Given the description of an element on the screen output the (x, y) to click on. 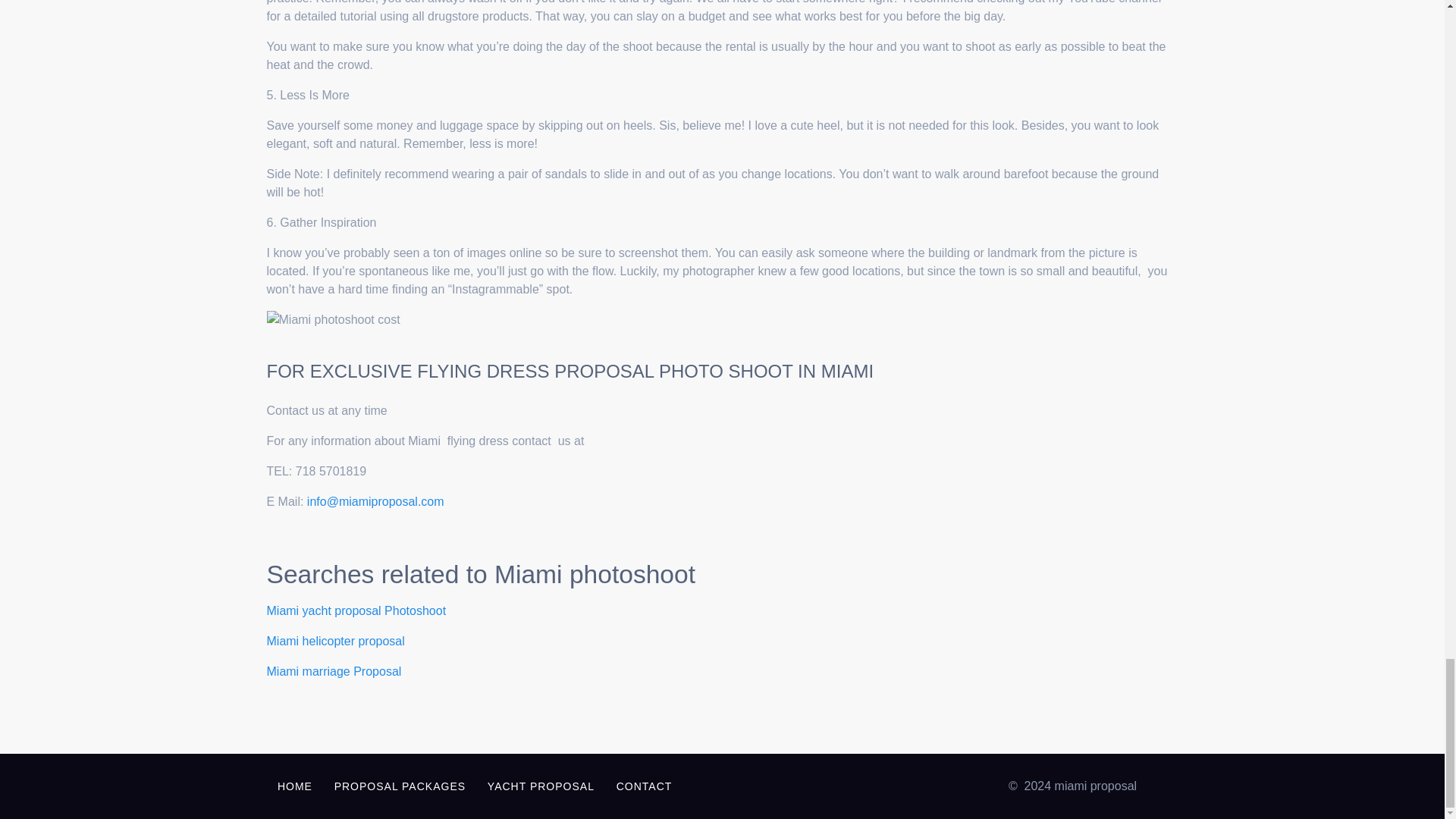
Miami marriage Proposal (333, 671)
PROPOSAL PACKAGES (399, 785)
HOME (294, 785)
CONTACT (643, 785)
Miami helicopter proposal (335, 640)
YACHT PROPOSAL (540, 785)
Miami yacht proposal Photoshoot (356, 610)
